Given the description of an element on the screen output the (x, y) to click on. 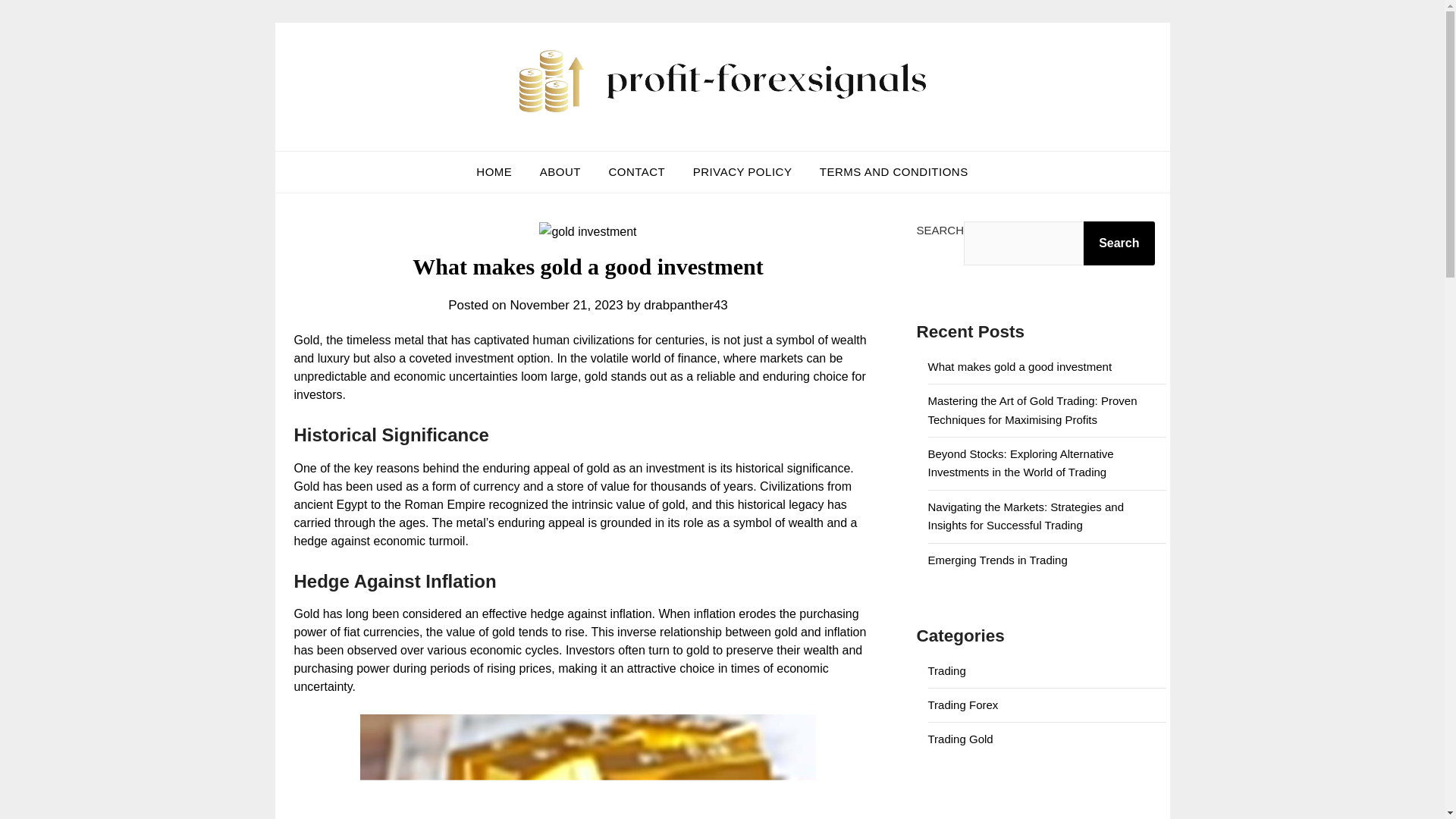
CONTACT (636, 171)
ABOUT (559, 171)
Search (1118, 243)
PRIVACY POLICY (743, 171)
TERMS AND CONDITIONS (893, 171)
HOME (494, 171)
Trading Gold (960, 738)
What makes gold a good investment (1020, 366)
November 21, 2023 (566, 305)
Trading (947, 670)
drabpanther43 (685, 305)
Emerging Trends in Trading (997, 559)
Trading Forex (963, 704)
